Given the description of an element on the screen output the (x, y) to click on. 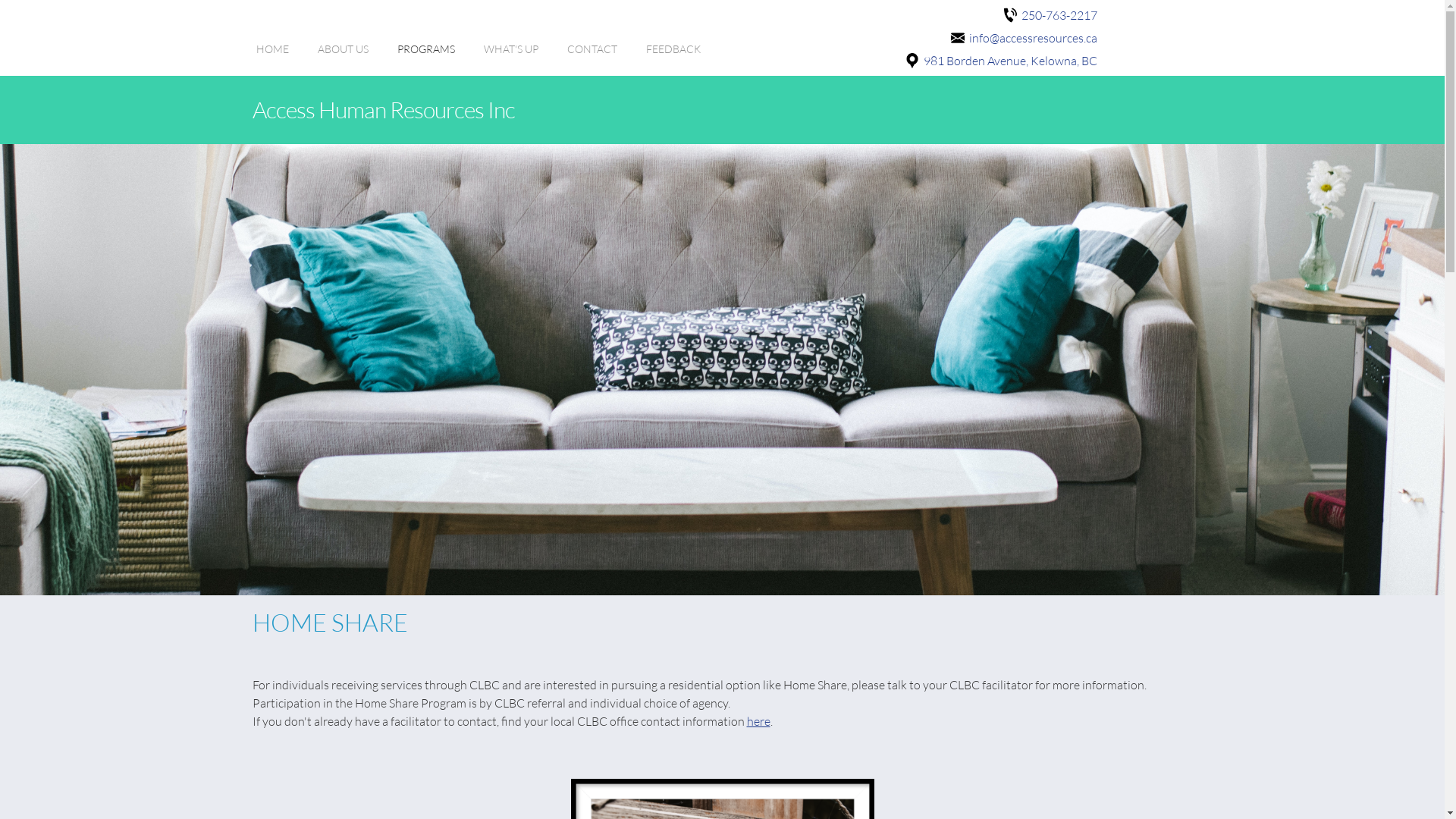
981 Borden Avenue, Kelowna, BC Element type: text (1006, 60)
ABOUT US Element type: text (341, 56)
Access Human Resources Inc Element type: text (721, 109)
CONTACT Element type: text (592, 56)
PROGRAMS Element type: text (426, 56)
WHAT'S UP Element type: text (510, 56)
here Element type: text (757, 720)
250-763-2217 Element type: text (1055, 14)
HOME Element type: text (272, 56)
FEEDBACK Element type: text (673, 56)
info@accessresources.ca Element type: text (1029, 37)
